Given the description of an element on the screen output the (x, y) to click on. 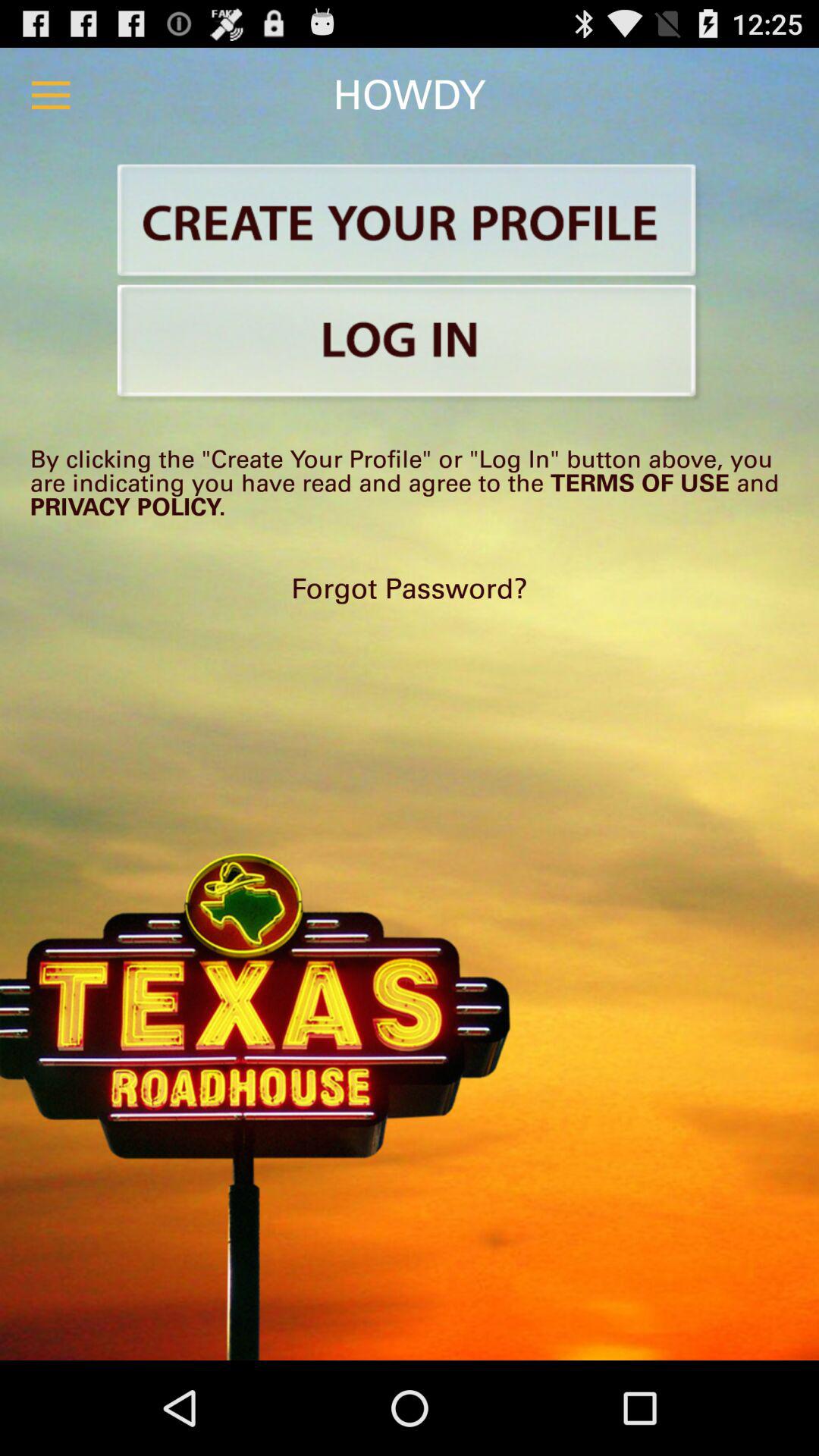
scroll to the forgot password? icon (409, 588)
